Given the description of an element on the screen output the (x, y) to click on. 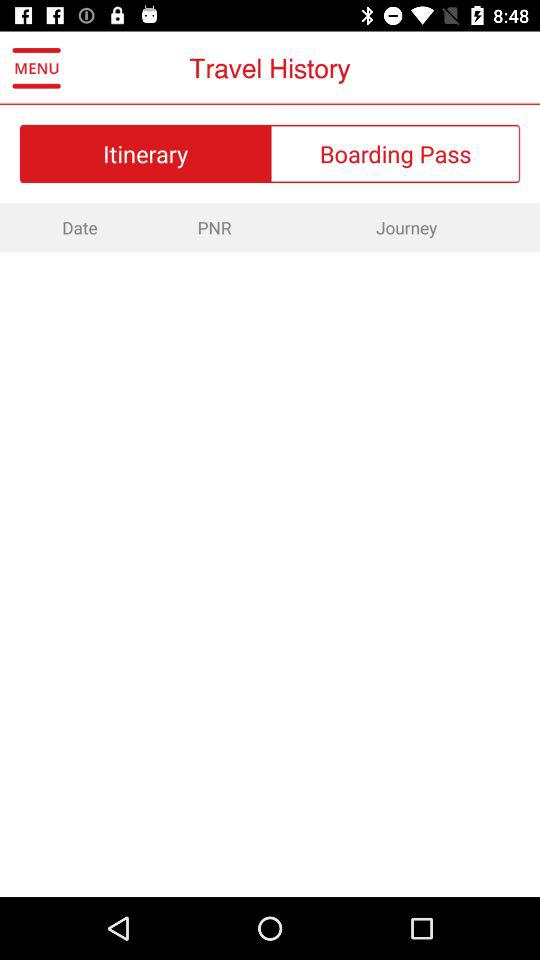
press the itinerary (145, 153)
